Given the description of an element on the screen output the (x, y) to click on. 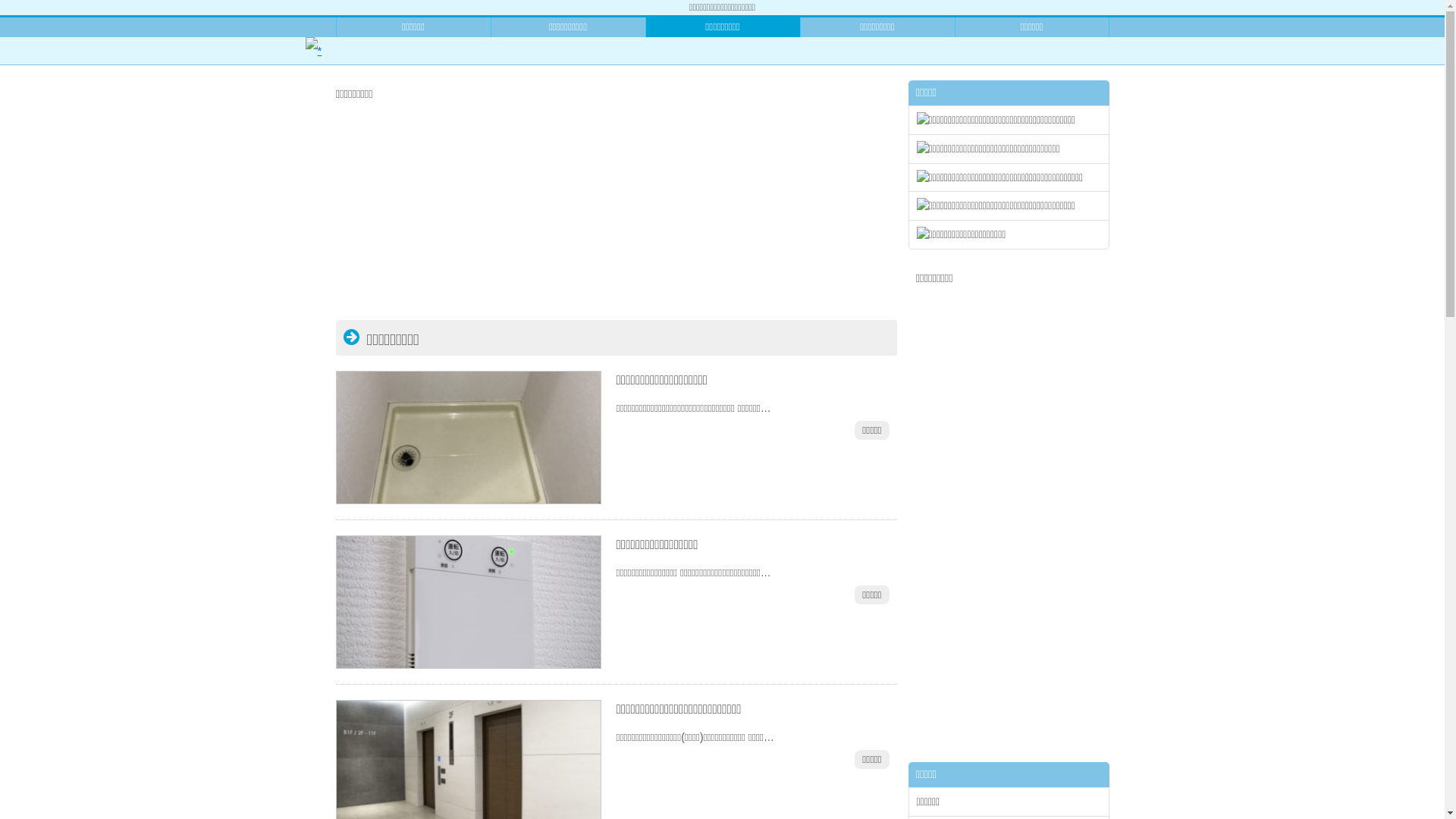
Advertisement Element type: hover (1008, 518)
Advertisement Element type: hover (615, 213)
